Given the description of an element on the screen output the (x, y) to click on. 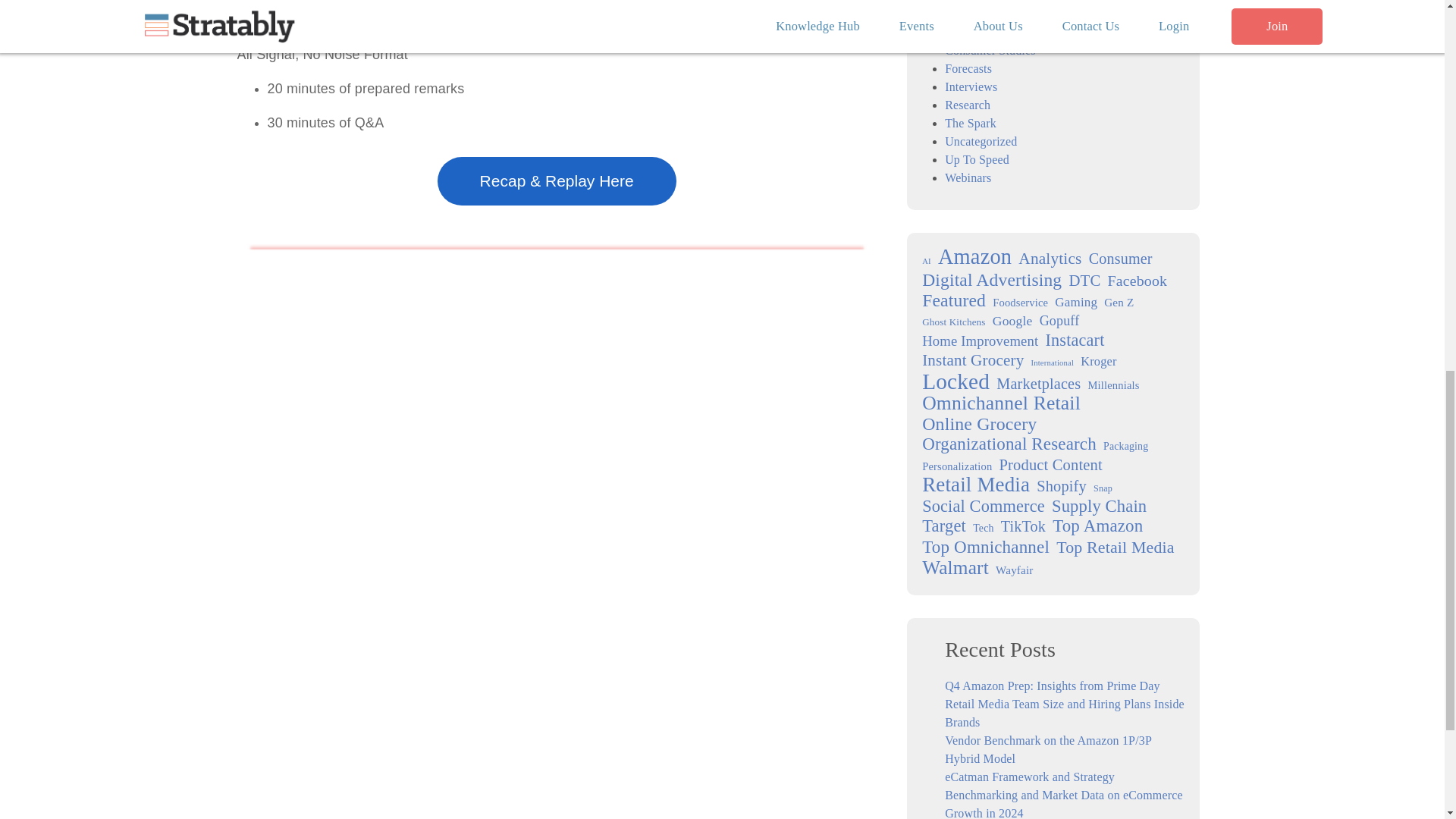
Webinars (967, 177)
Research (967, 104)
Building Blocks (985, 31)
Digital Advertising (991, 280)
Benchmarks (975, 1)
Briefings (967, 13)
Interviews (970, 86)
Amazon (974, 257)
Forecasts (967, 68)
Analytics (1049, 258)
Consumer (1121, 258)
Up To Speed (976, 159)
Uncategorized (980, 141)
Consumer Studies (989, 50)
The Spark (969, 123)
